Given the description of an element on the screen output the (x, y) to click on. 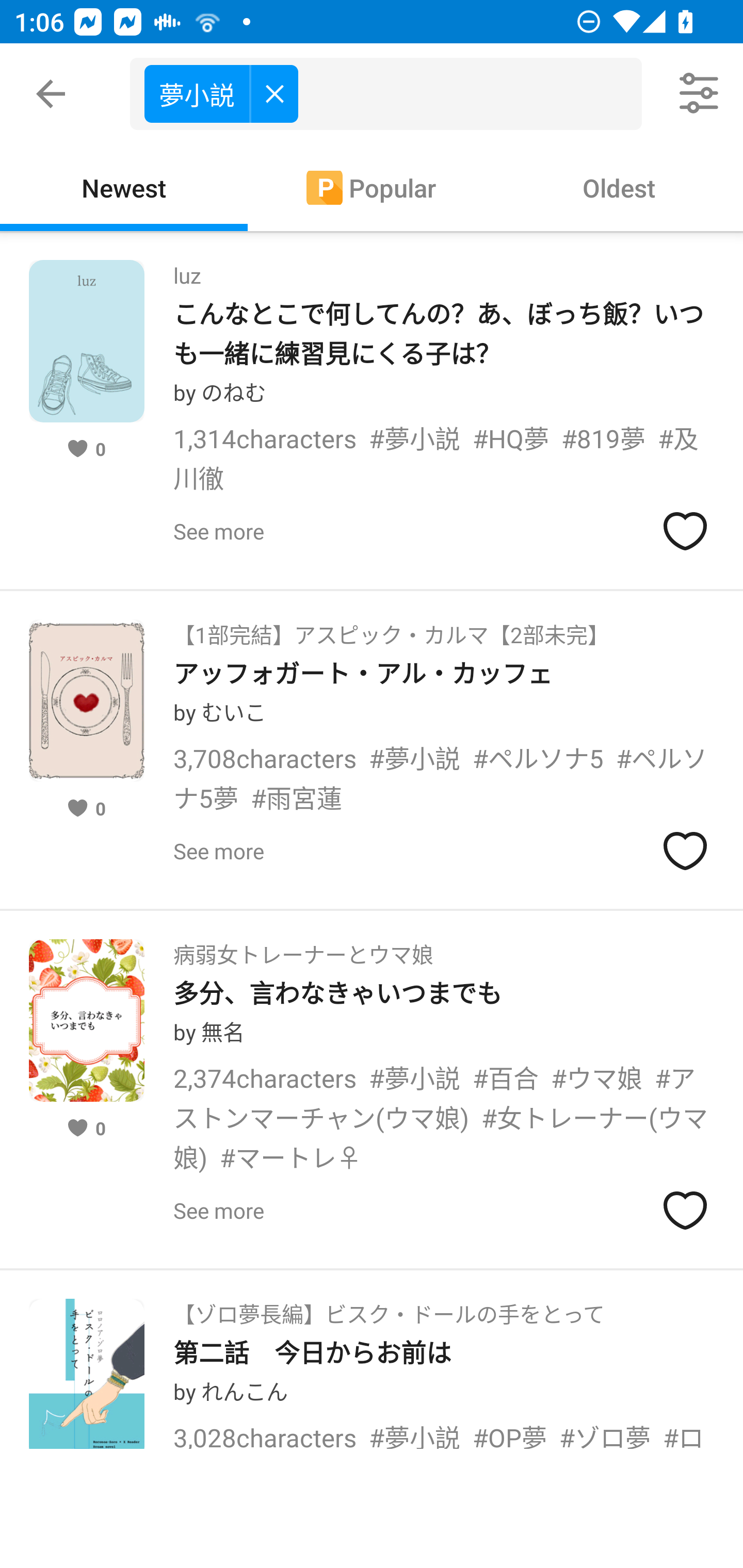
Navigate up (50, 93)
Filters (699, 93)
夢小説 (220, 93)
[P] Popular (371, 187)
Oldest (619, 187)
luz (187, 269)
【1部完結】アスピック・カルマ【2部未完】 (391, 628)
病弱女トレーナーとウマ娘 (303, 948)
【ゾロ夢長編】ビスク・ドールの手をとって (388, 1308)
